Given the description of an element on the screen output the (x, y) to click on. 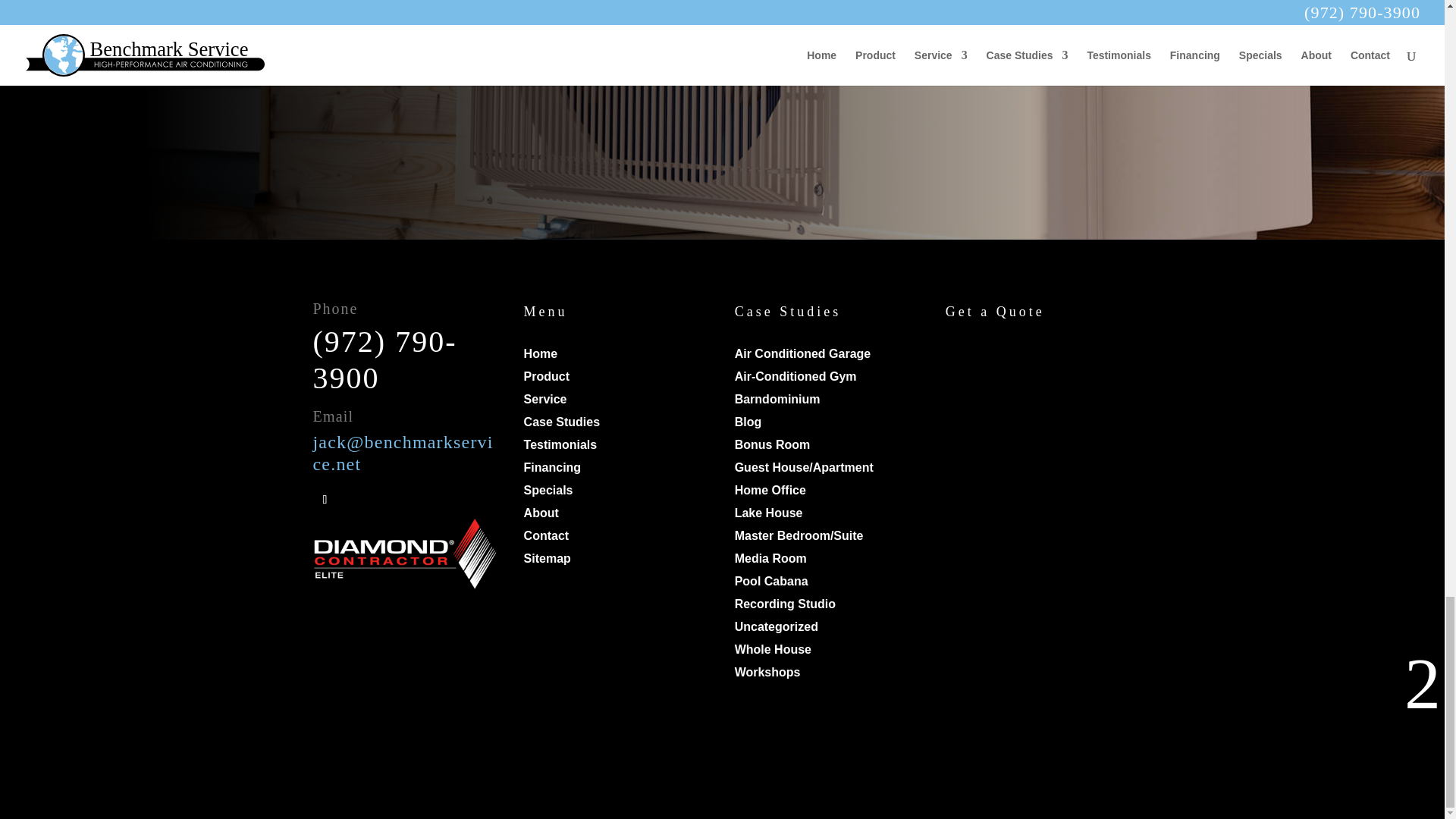
mits-diamond-contractor (406, 554)
Follow on Facebook (324, 499)
